Given the description of an element on the screen output the (x, y) to click on. 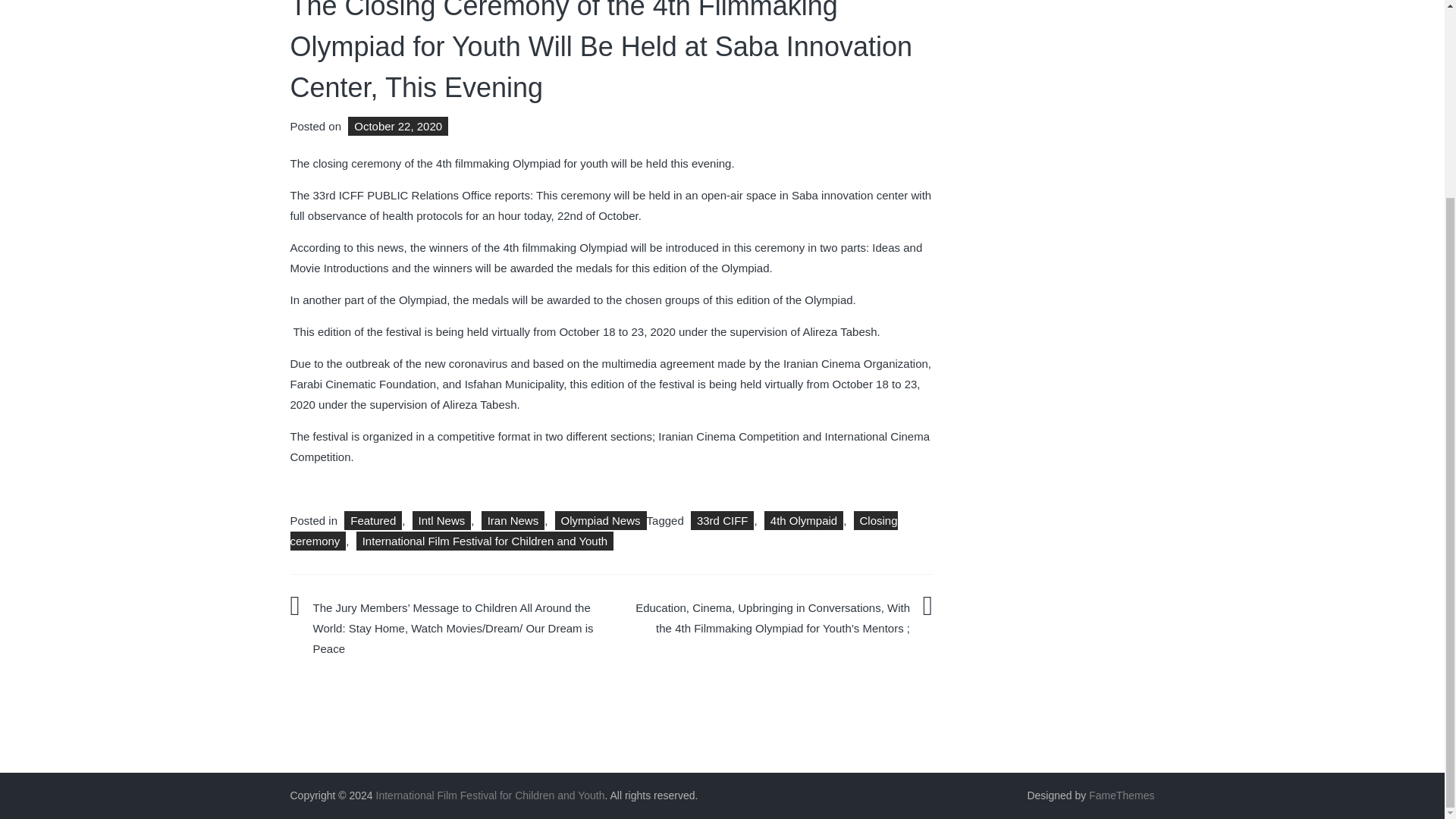
Featured (372, 520)
Olympiad News (600, 520)
Intl News (441, 520)
October 22, 2020 (395, 125)
Iran News (512, 520)
4th Olympaid (803, 520)
33rd CIFF (722, 520)
International Film Festival for Children and Youth (490, 795)
